Given the description of an element on the screen output the (x, y) to click on. 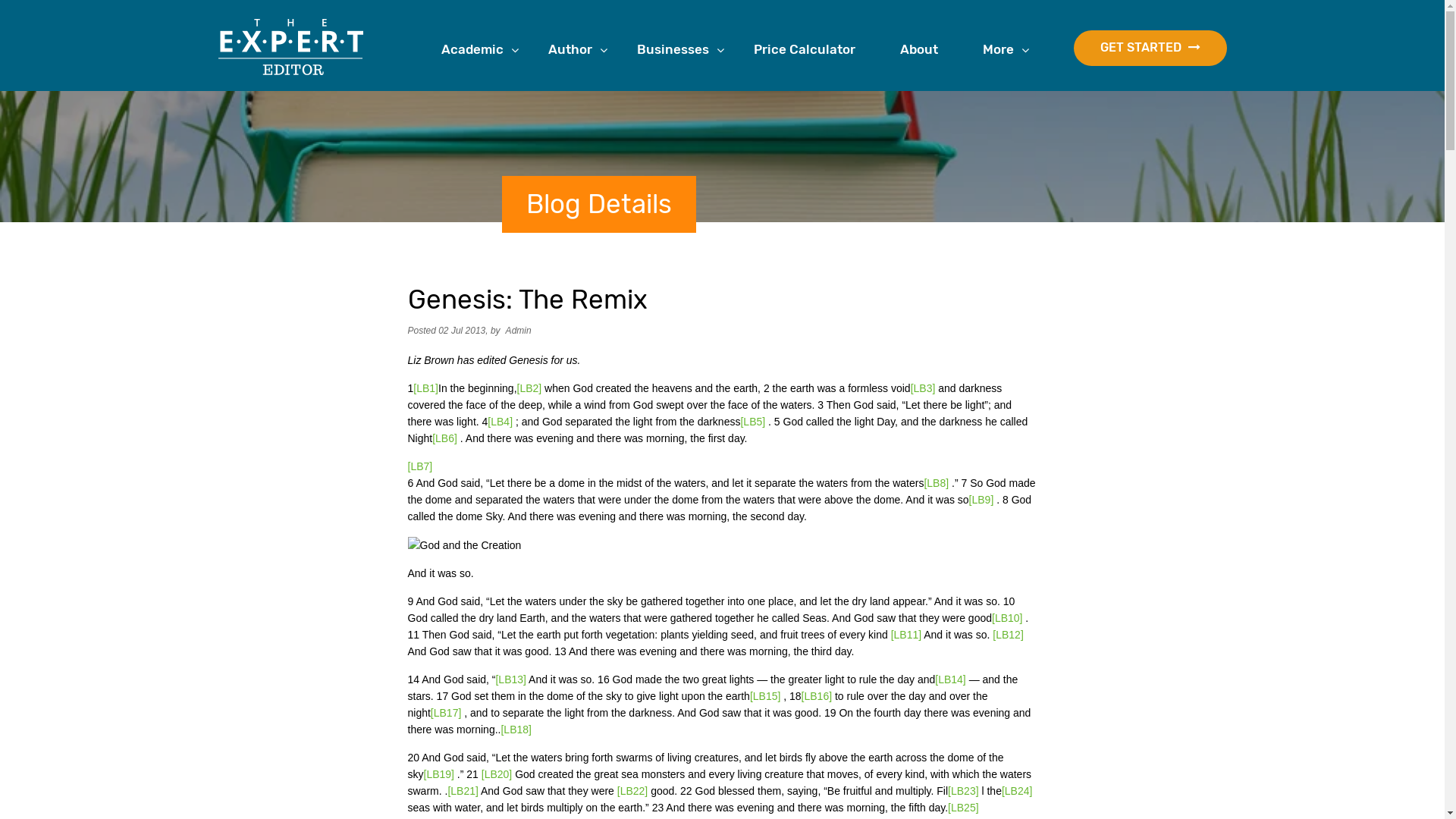
[LB11] Element type: text (906, 634)
[LB16] Element type: text (816, 696)
[LB2] Element type: text (529, 388)
[LB12] Element type: text (1007, 634)
[LB25] Element type: text (962, 807)
[LB6] Element type: text (444, 438)
Author Element type: text (575, 50)
[LB20] Element type: text (496, 774)
[LB21] Element type: text (462, 790)
[LB10] Element type: text (1006, 617)
[LB18] Element type: text (515, 729)
[LB22] Element type: text (632, 790)
[LB4] Element type: text (499, 421)
The Expert Editor Element type: hover (290, 46)
[LB7] Element type: text (420, 466)
GET STARTED Element type: text (1149, 47)
[LB23] Element type: text (962, 790)
[LB24] Element type: text (1016, 790)
Academic Element type: text (478, 50)
[LB8] Element type: text (935, 482)
Businesses Element type: text (678, 50)
[LB9] Element type: text (981, 499)
[LB14] Element type: text (950, 679)
[LB5] Element type: text (752, 421)
More Element type: text (1003, 50)
Price Calculator Element type: text (809, 50)
[LB1] Element type: text (425, 388)
[LB17] Element type: text (445, 712)
[LB15] Element type: text (764, 696)
About Element type: text (923, 50)
[LB3] Element type: text (922, 388)
[LB19] Element type: text (438, 774)
[LB13] Element type: text (510, 679)
